Given the description of an element on the screen output the (x, y) to click on. 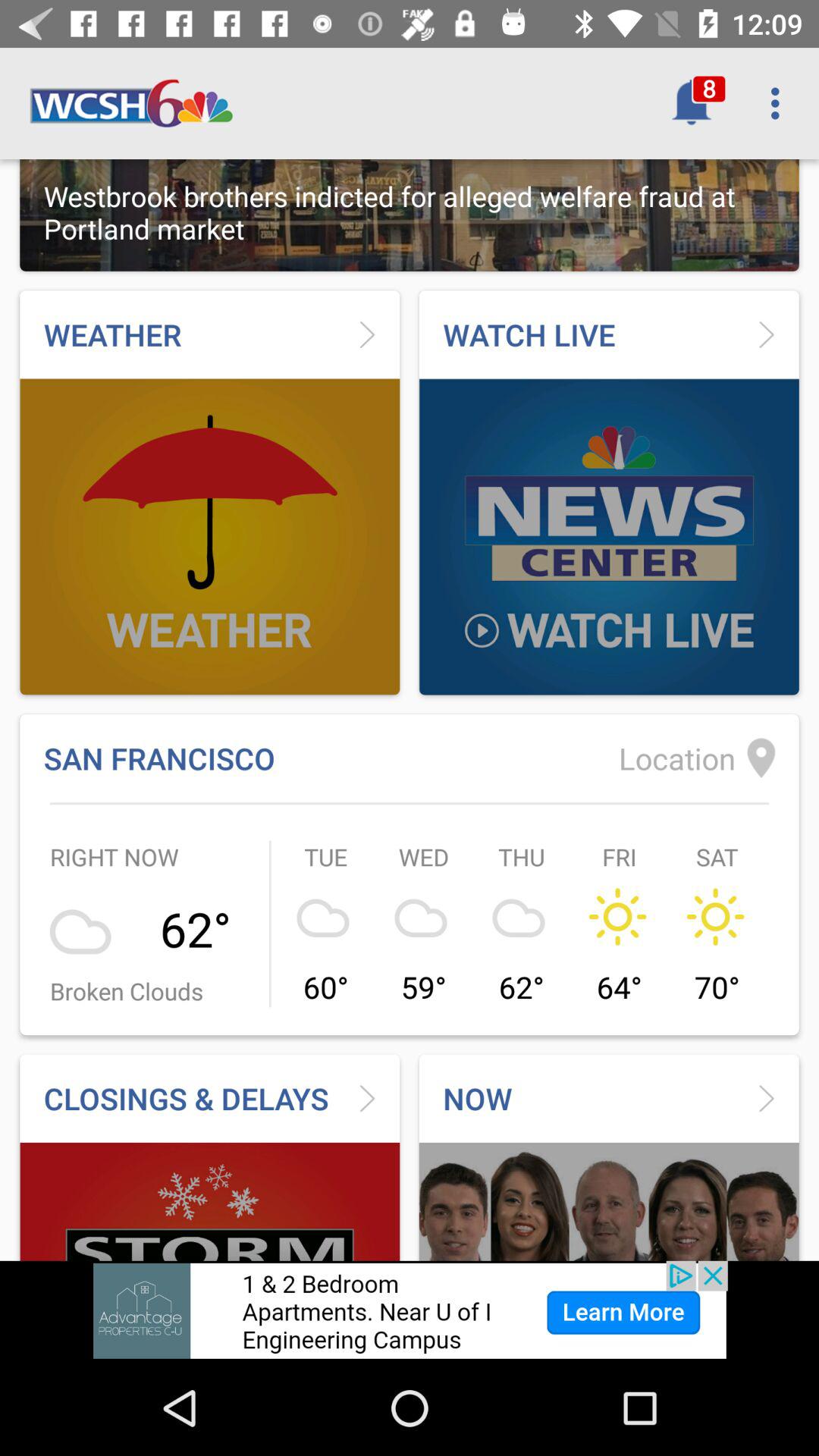
advertisement page (409, 1310)
